Given the description of an element on the screen output the (x, y) to click on. 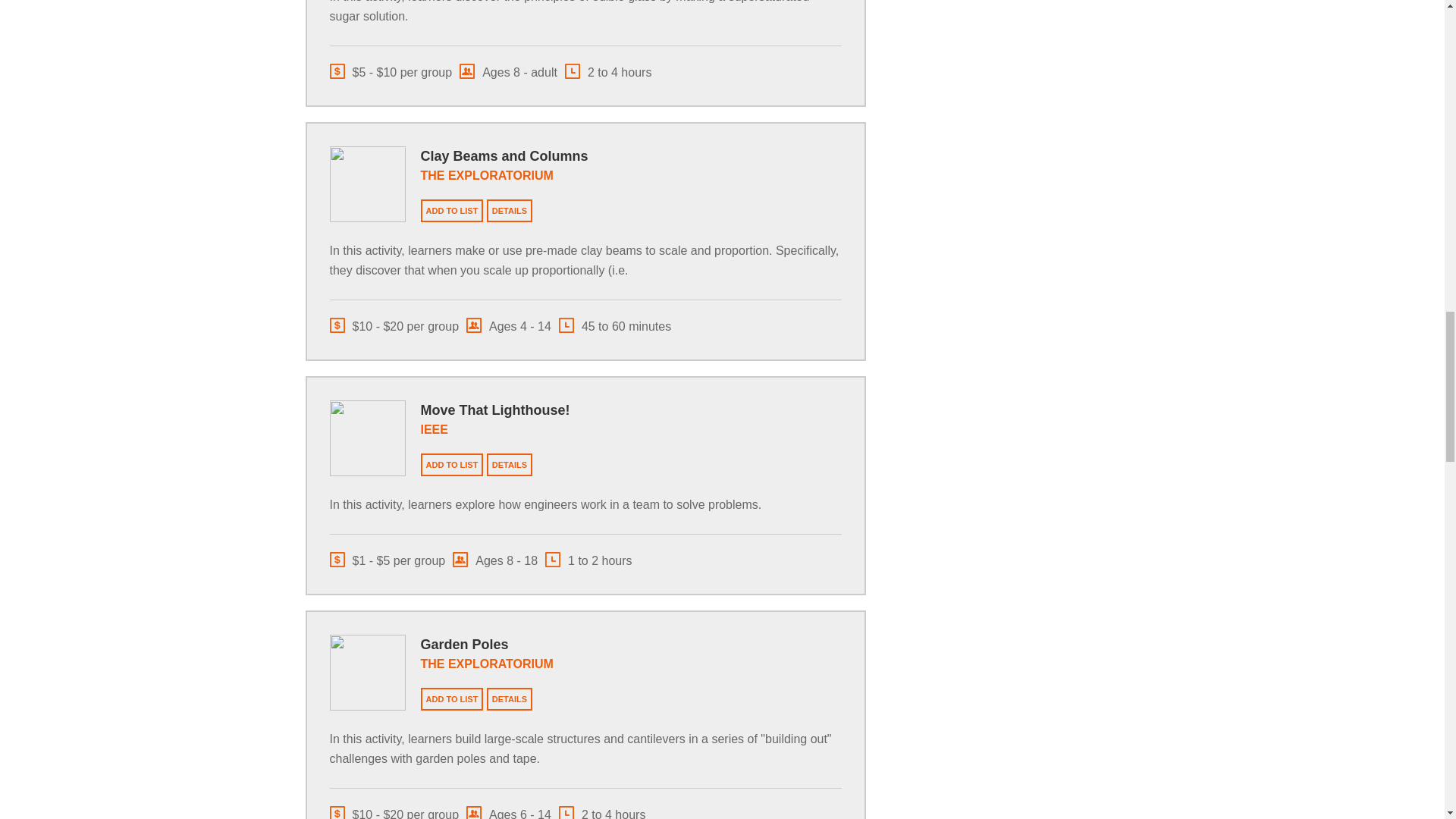
THE EXPLORATORIUM (486, 174)
Clay Beams and Columns (504, 155)
Estimated materials cost (390, 70)
